Given the description of an element on the screen output the (x, y) to click on. 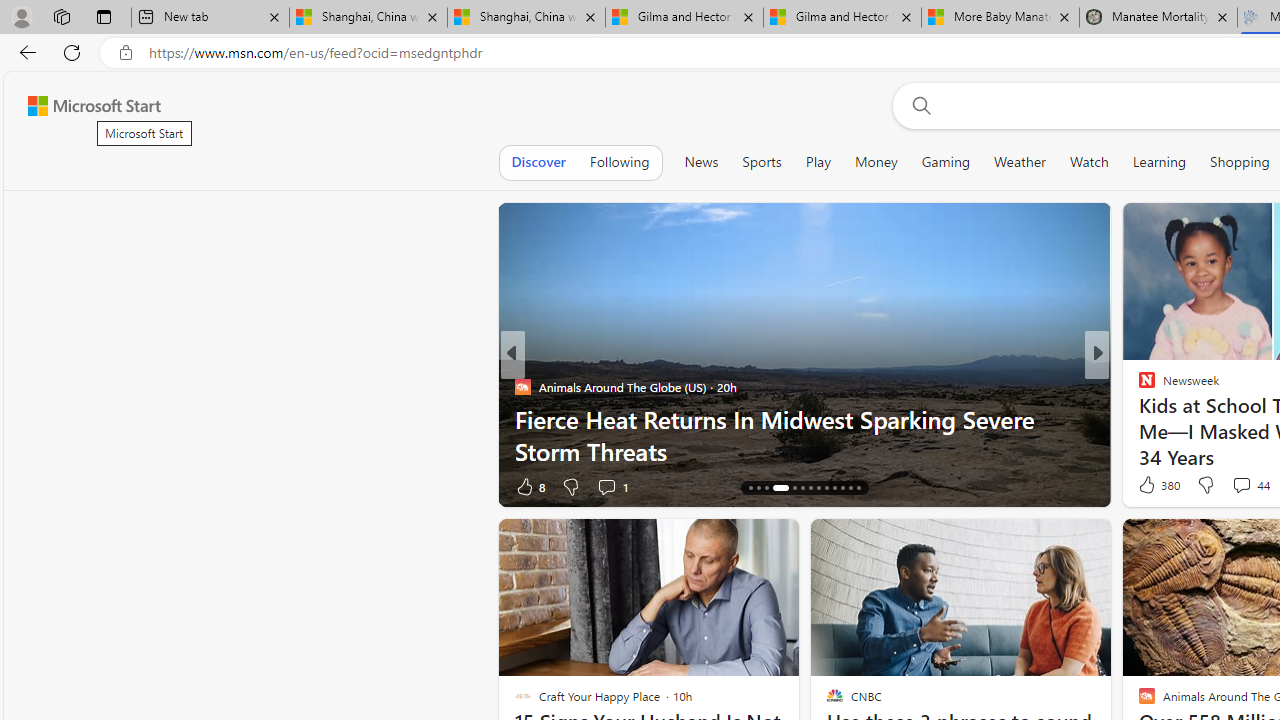
RB ITALIA Blog (1138, 386)
View comments 16 Comment (1229, 485)
192 Like (1151, 486)
View comments 196 Comment (1234, 485)
AutomationID: tab-23 (833, 487)
Shopping (1240, 161)
Hide this story (1050, 542)
